Given the description of an element on the screen output the (x, y) to click on. 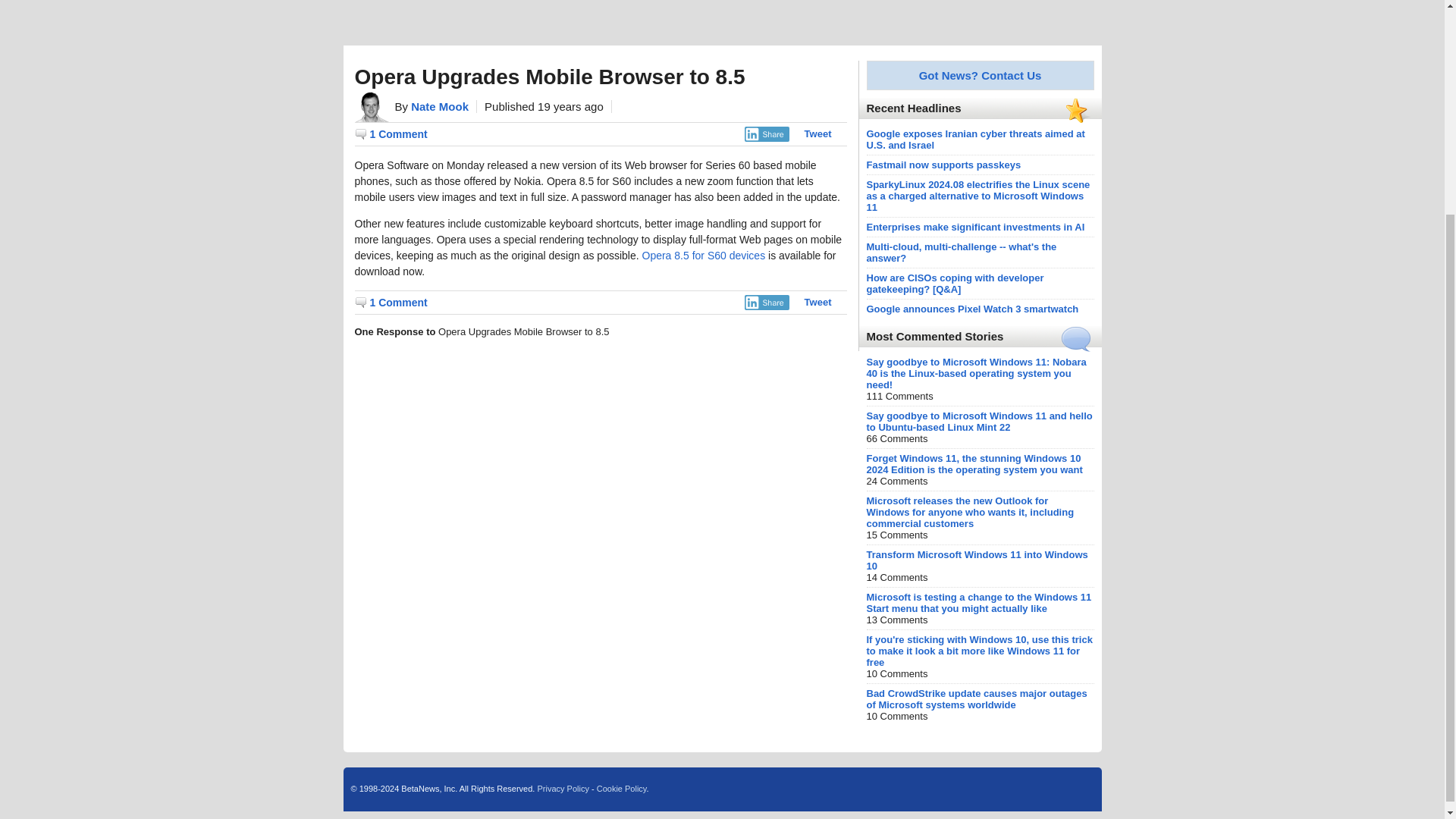
Multi-cloud, multi-challenge -- what's the answer? (961, 251)
Share (766, 133)
Transform Microsoft Windows 11 into Windows 10 (976, 559)
Opera 8.5 for S60 devices (703, 255)
Fastmail now supports passkeys (943, 164)
1 Comment (391, 133)
Nate Mook (439, 106)
